Given the description of an element on the screen output the (x, y) to click on. 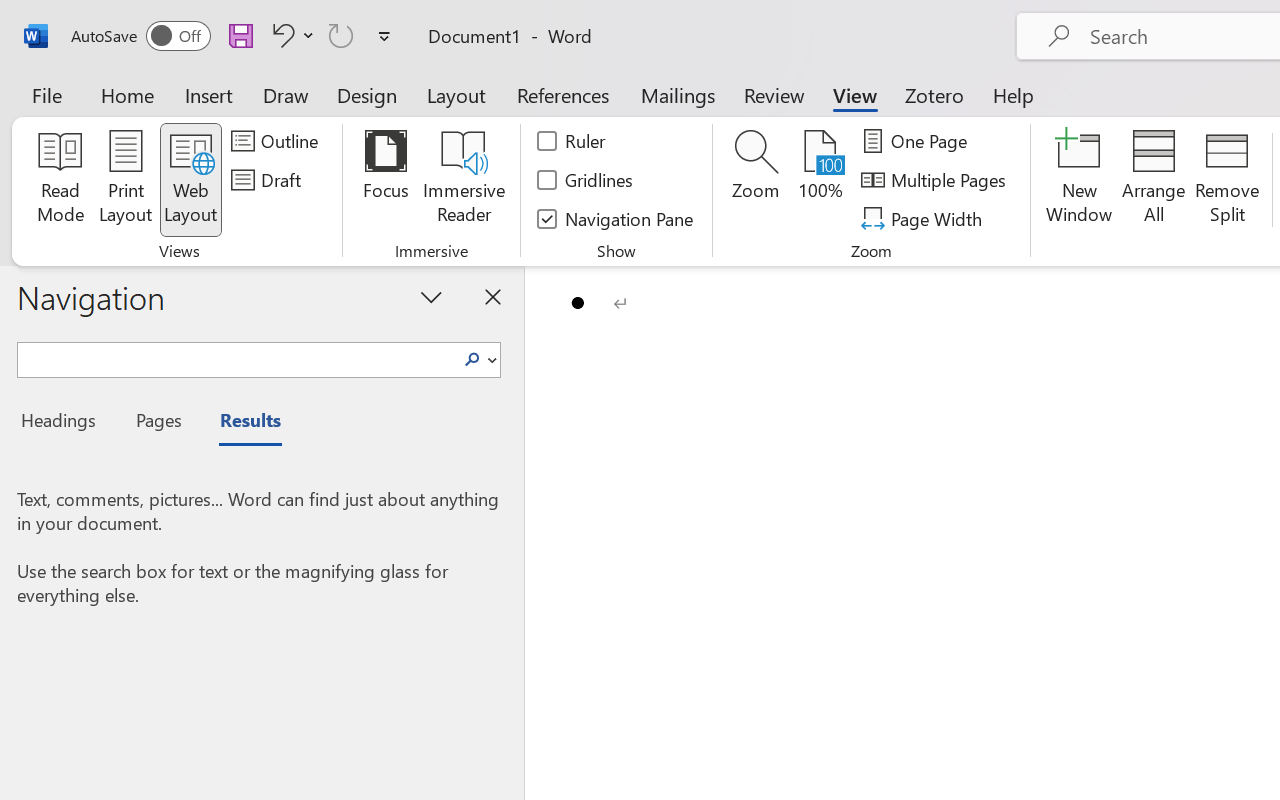
Search document (236, 357)
Outline (278, 141)
